Given the description of an element on the screen output the (x, y) to click on. 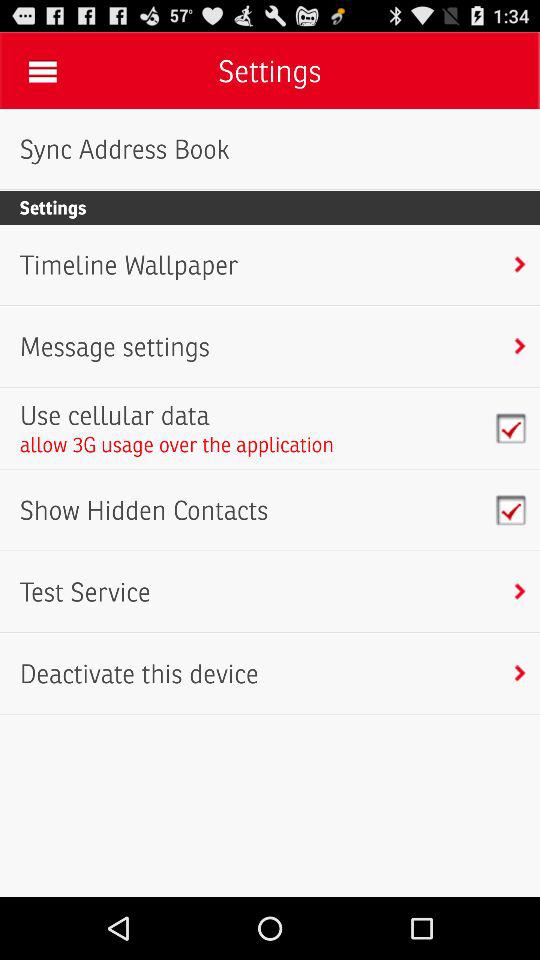
turn on sync address book icon (124, 149)
